Given the description of an element on the screen output the (x, y) to click on. 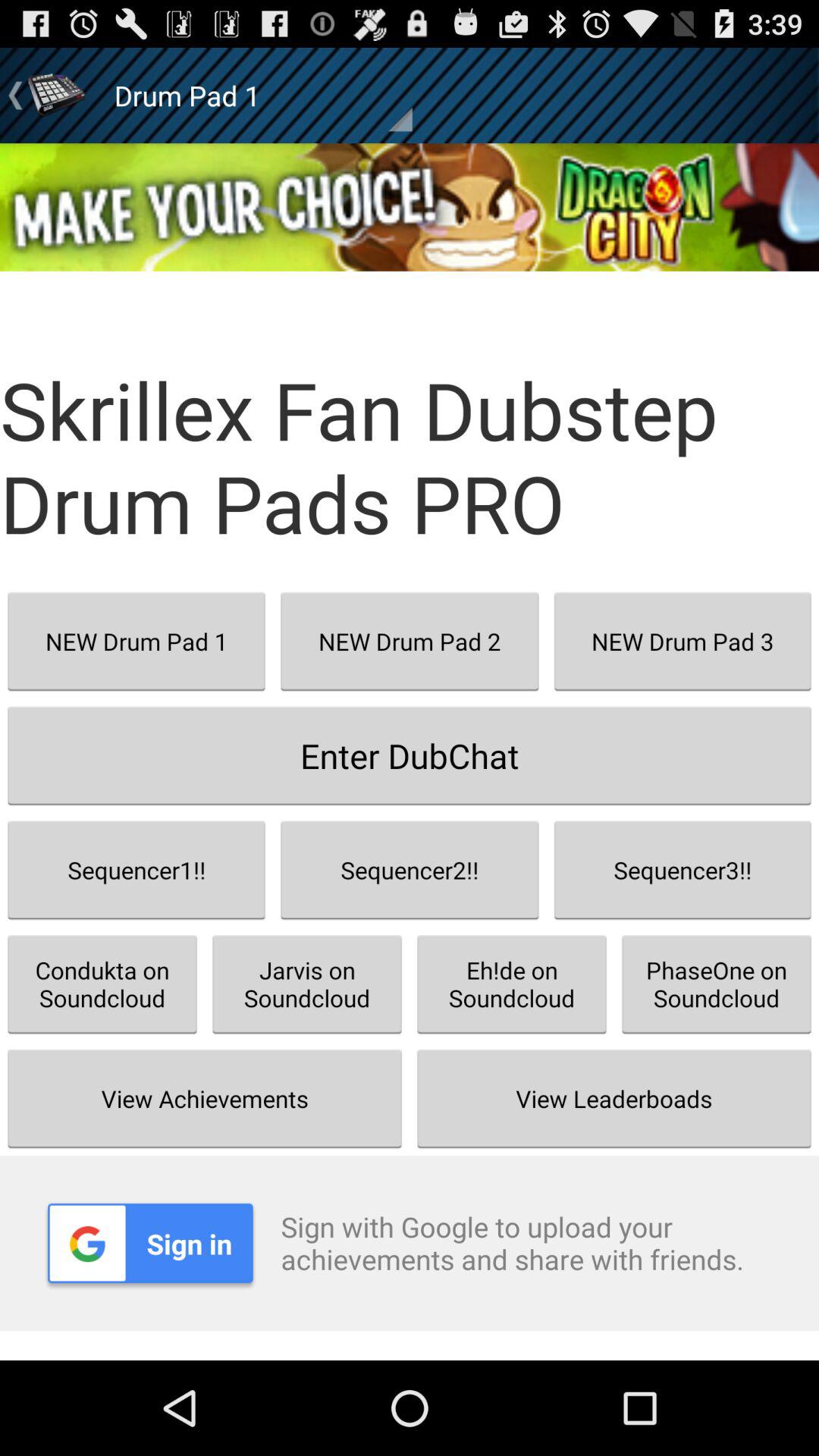
choose the sign in icon (150, 1243)
